Given the description of an element on the screen output the (x, y) to click on. 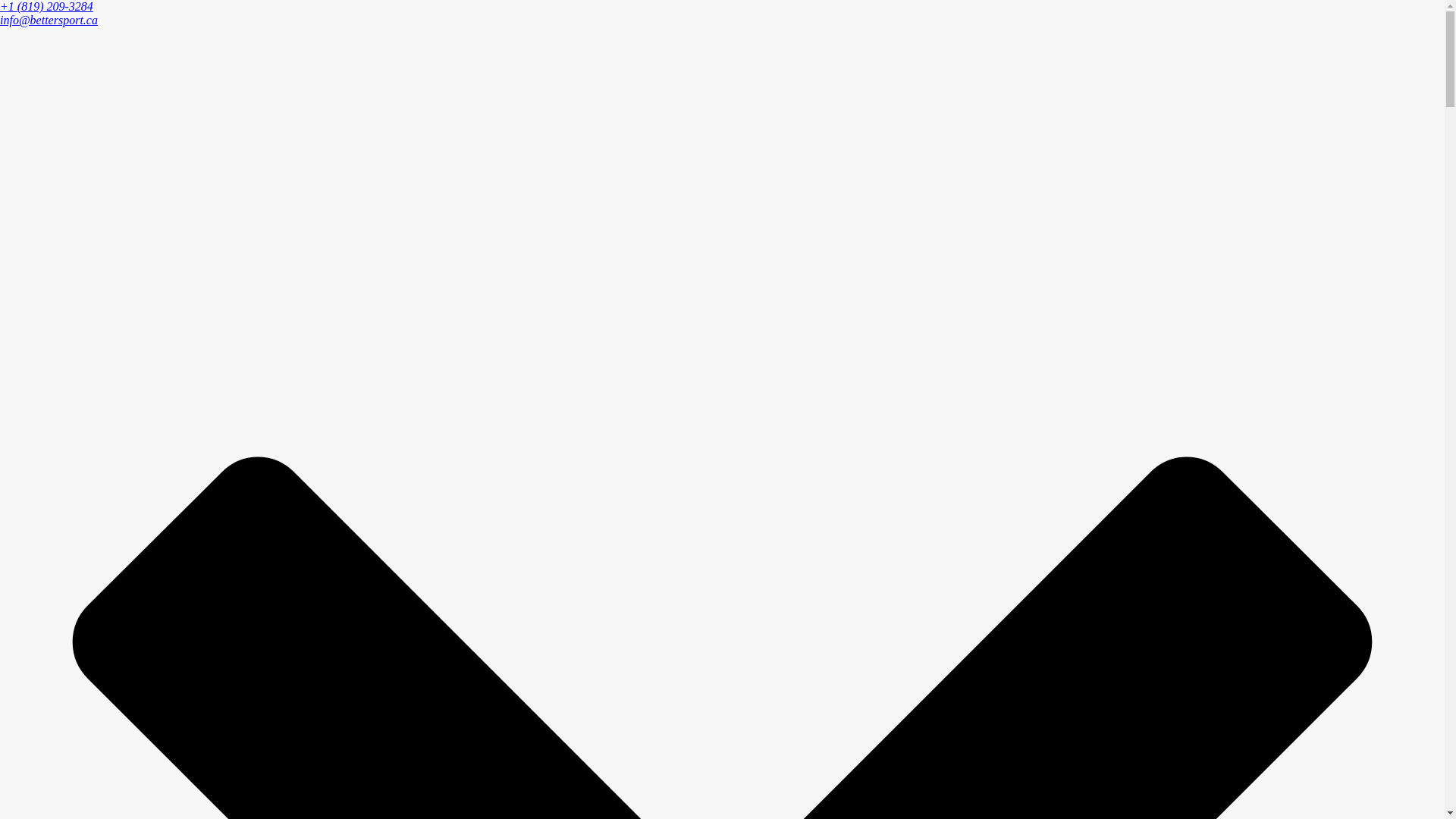
+1 (819) 209-3284 Element type: text (46, 6)
info@bettersport.ca Element type: text (48, 19)
